Given the description of an element on the screen output the (x, y) to click on. 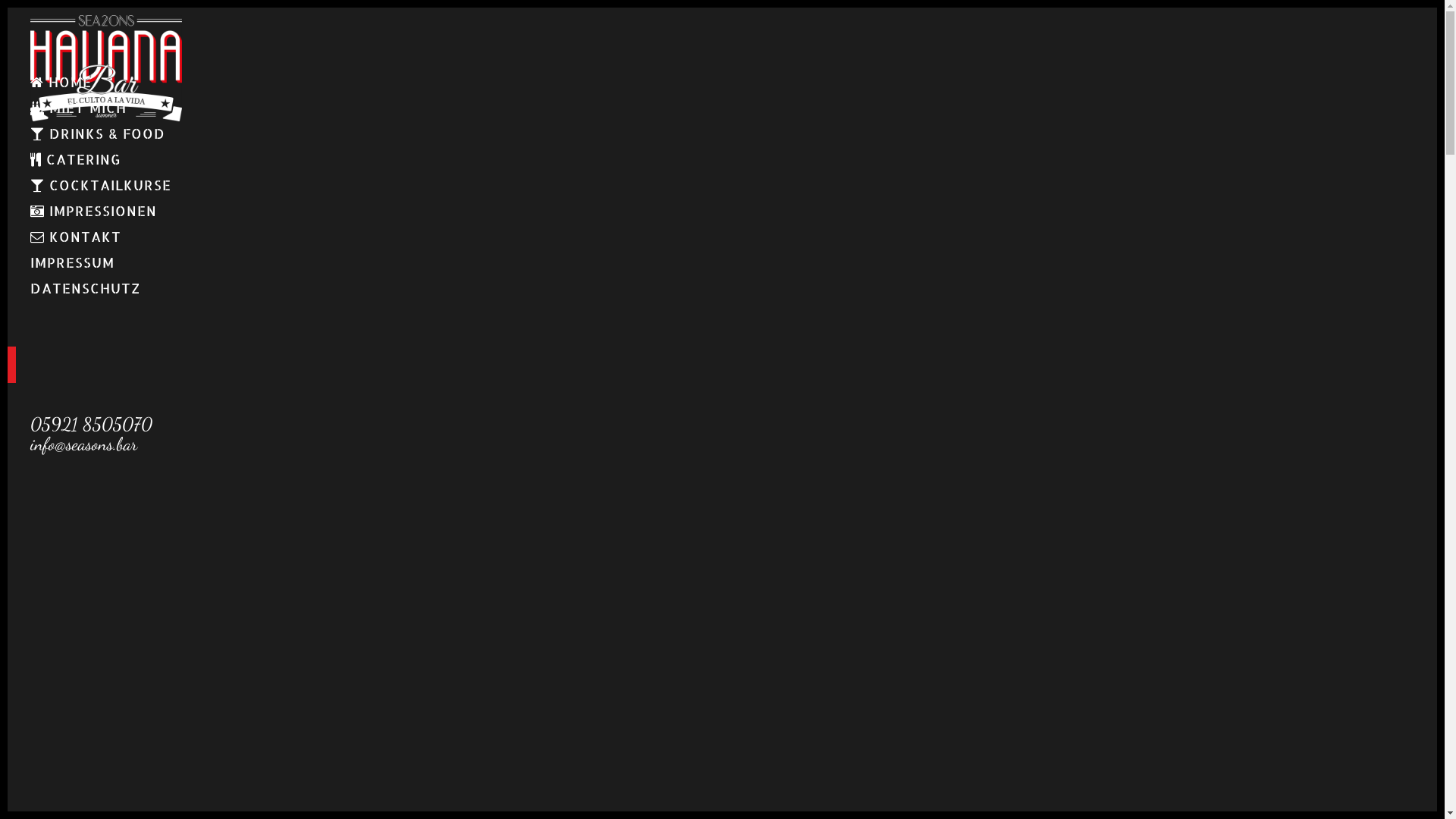
 COCKTAILKURSE Element type: text (106, 184)
IMPRESSUM Element type: text (106, 262)
 DRINKS & FOOD Element type: text (106, 133)
DATENSCHUTZ Element type: text (106, 288)
 KONTAKT Element type: text (106, 236)
 IMPRESSIONEN Element type: text (106, 210)
 CATERING Element type: text (106, 159)
 HOME Element type: text (106, 81)
 MIET MICH Element type: text (106, 107)
